Given the description of an element on the screen output the (x, y) to click on. 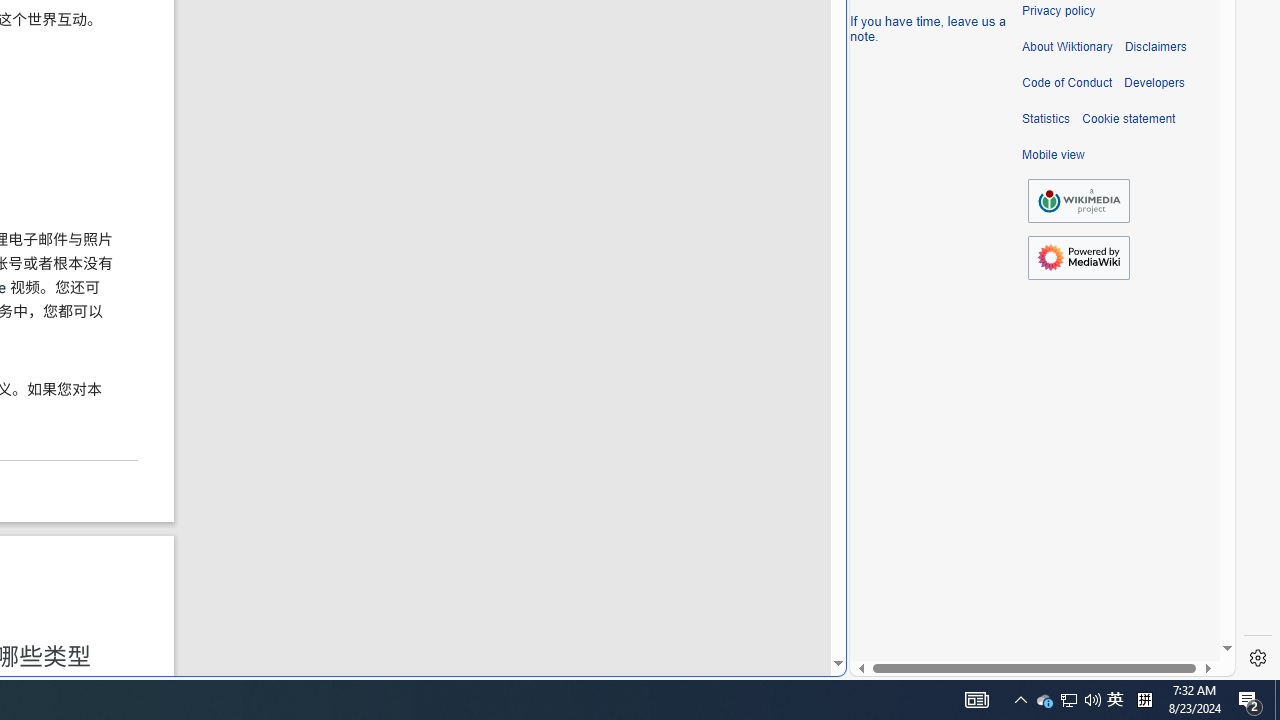
Statistics (1046, 119)
Code of Conduct (1067, 83)
Powered by MediaWiki (1078, 257)
AutomationID: footer-poweredbyico (1078, 257)
Disclaimers (1154, 47)
Wikimedia Foundation (1078, 201)
Mobile view (1053, 155)
